Given the description of an element on the screen output the (x, y) to click on. 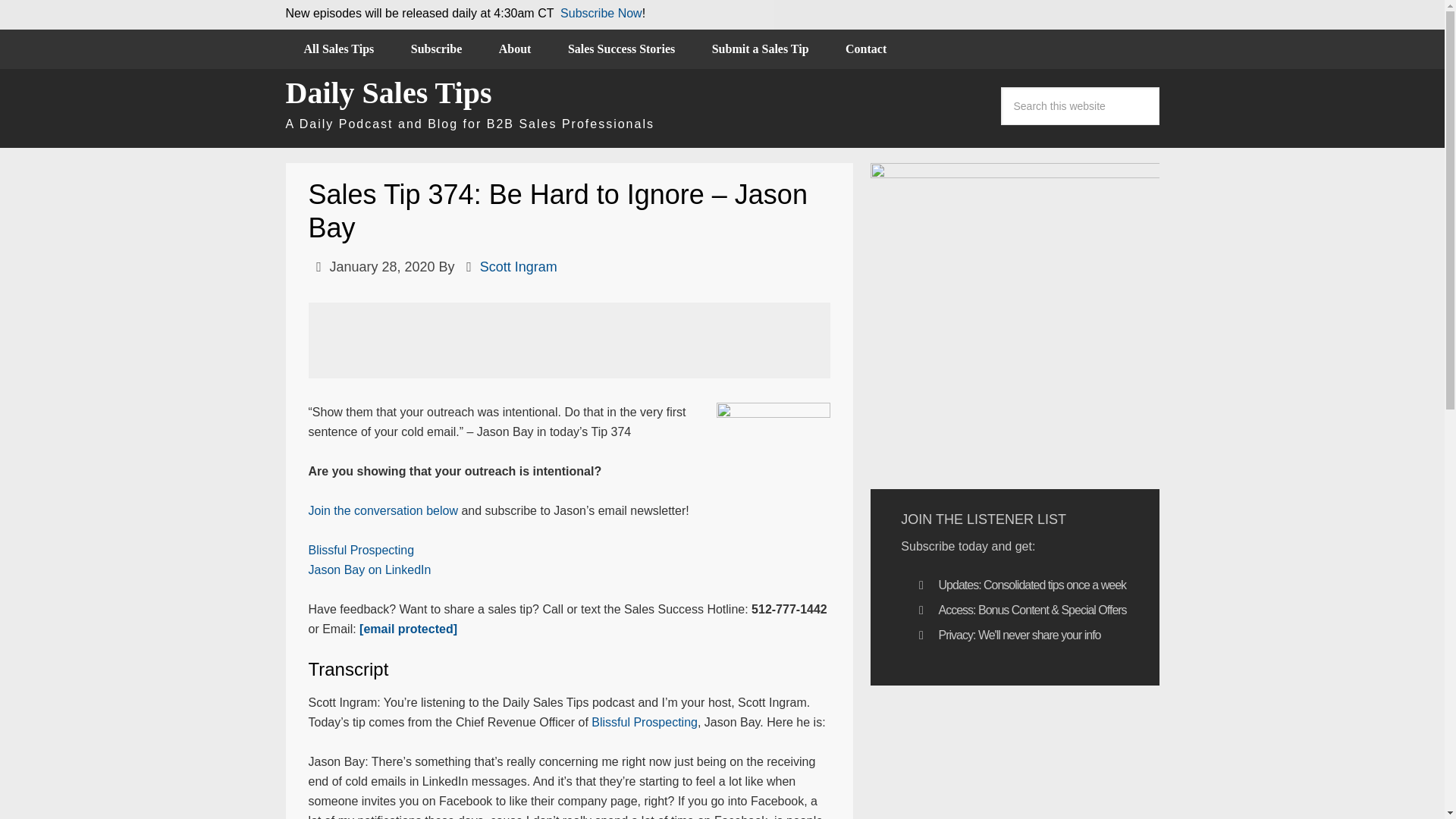
Subscribe (436, 48)
Blissful Prospecting (360, 549)
About (515, 48)
Scott Ingram (518, 266)
Subscribe Now (601, 12)
Contact (865, 48)
Join the conversation below (382, 510)
Blissful Prospecting (644, 721)
Submit a Sales Tip (760, 48)
All Sales Tips (338, 48)
Sales Success Stories (621, 48)
Jason Bay on LinkedIn (368, 569)
Daily Sales Tips (388, 92)
